Given the description of an element on the screen output the (x, y) to click on. 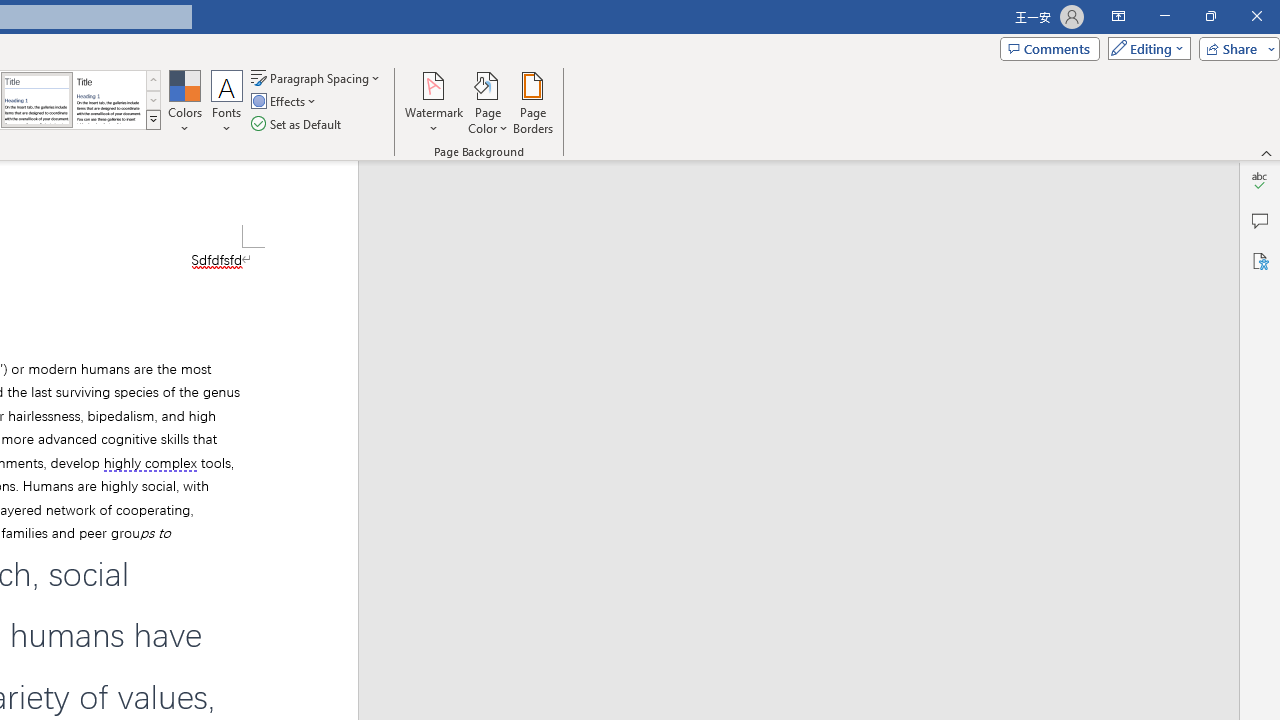
Style Set (153, 120)
Paragraph Spacing (317, 78)
Watermark (434, 102)
Fonts (227, 102)
Editing (1144, 47)
Accessibility (1260, 260)
Page Color (487, 102)
